Given the description of an element on the screen output the (x, y) to click on. 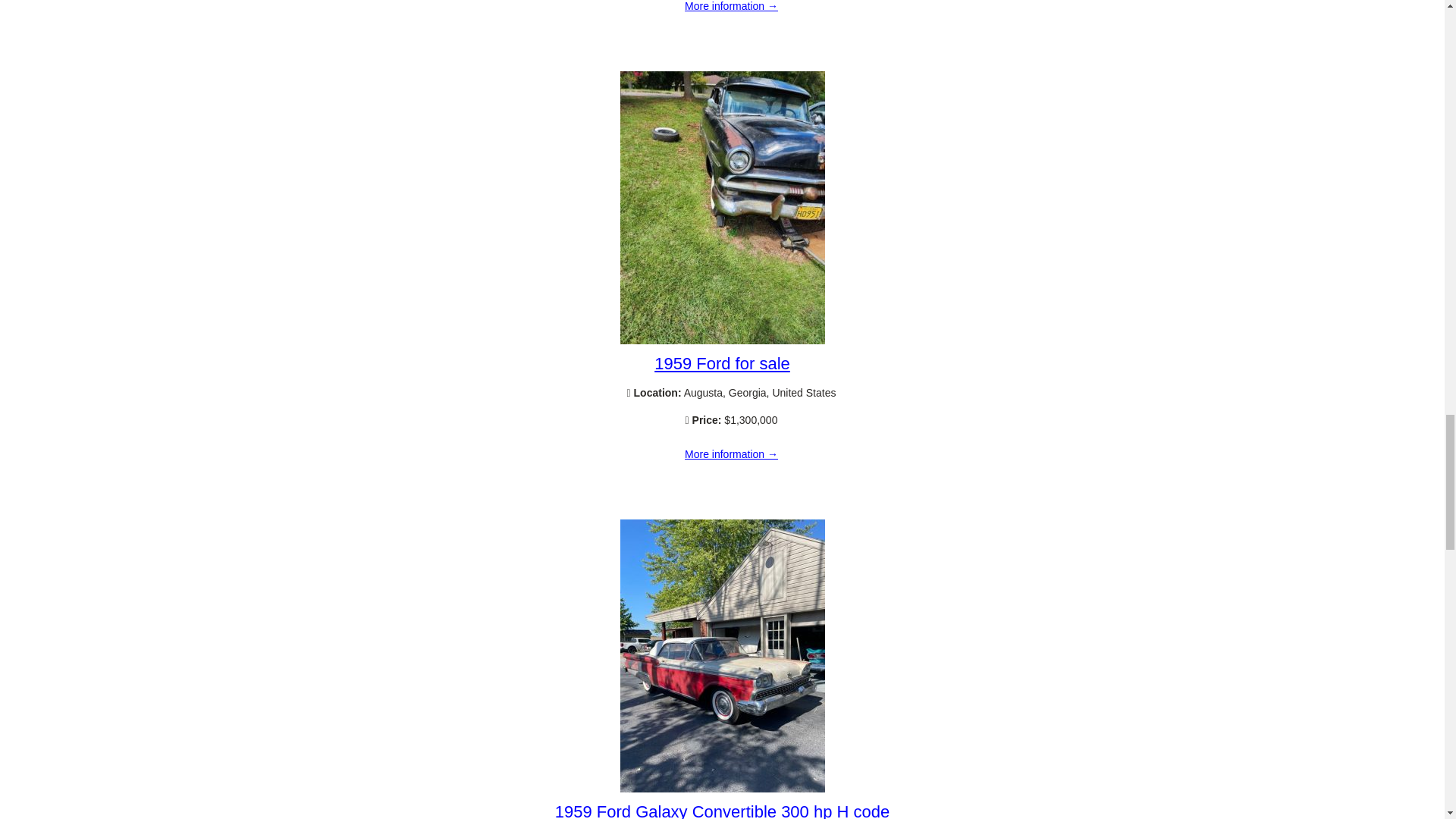
1959 Ford Thunderbird for sale (731, 10)
1959 Ford for sale (722, 340)
1959 Ford Galaxy Convertible 300 hp H code stick for sale (721, 810)
1959 Ford for sale (731, 454)
1959 Ford Galaxy Convertible 300 hp H code stick for sale (722, 788)
1959 Ford for sale (721, 363)
